Given the description of an element on the screen output the (x, y) to click on. 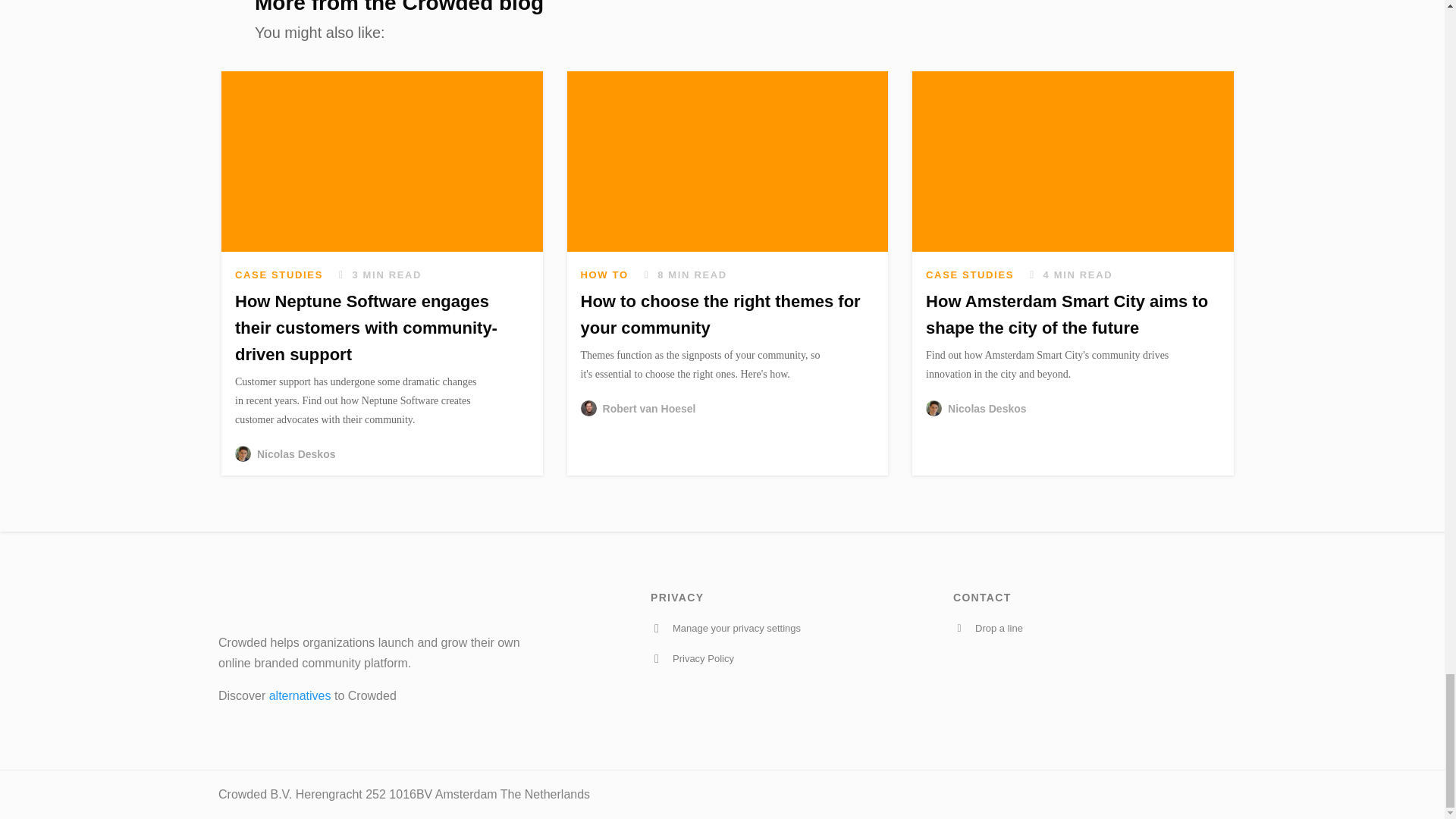
Drop a line (1095, 628)
alternatives (300, 695)
Manage your privacy settings (792, 628)
Privacy Policy (792, 658)
